Given the description of an element on the screen output the (x, y) to click on. 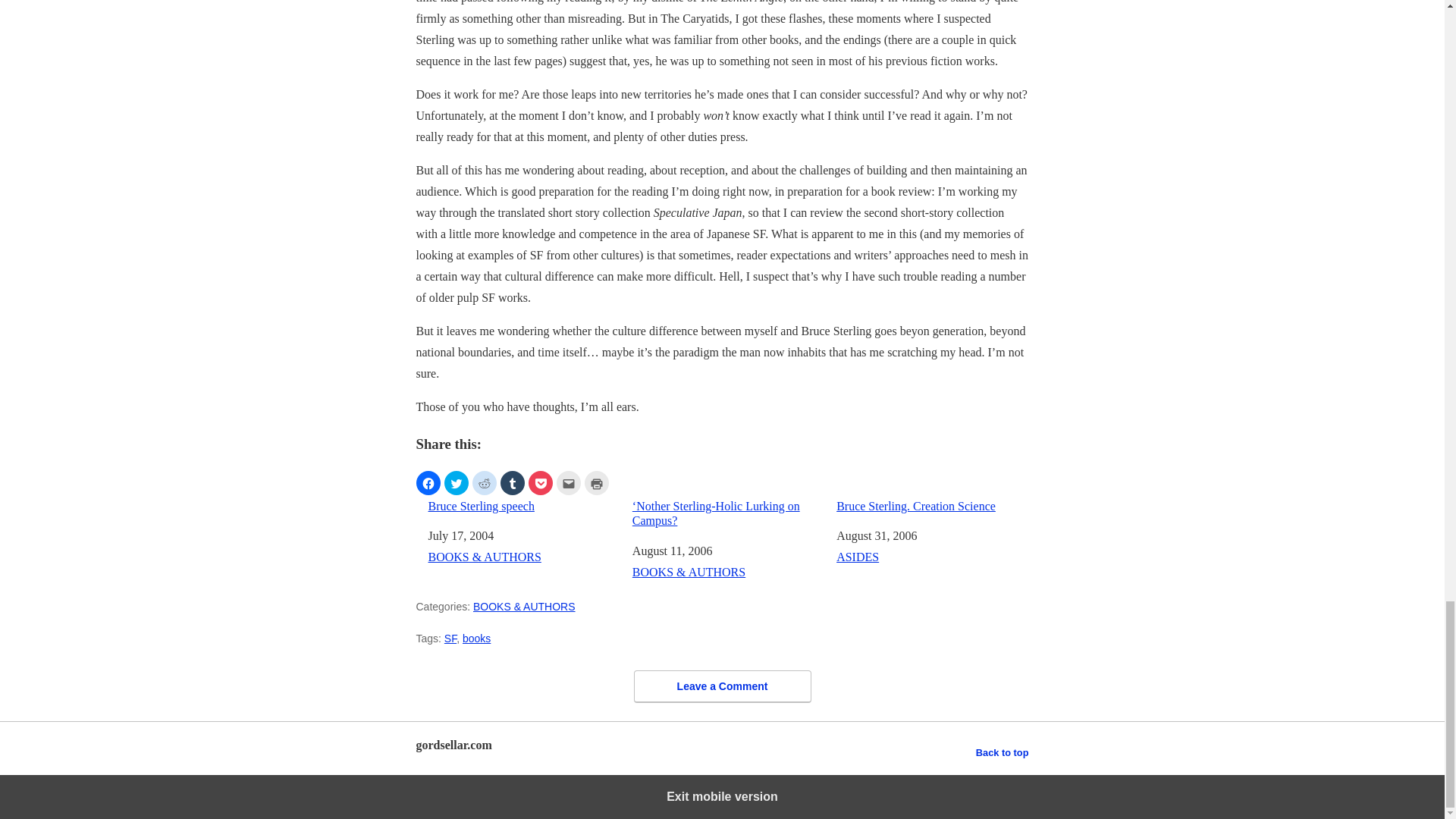
SF (450, 638)
Bruce Sterling. Creation Science (931, 505)
Click to share on Facebook (426, 482)
Click to share on Twitter (456, 482)
books (476, 638)
Leave a Comment (721, 686)
Click to share on Email (568, 482)
Click to share on Tumblr (512, 482)
Click to share on Reddit (483, 482)
Back to top (1002, 752)
